Given the description of an element on the screen output the (x, y) to click on. 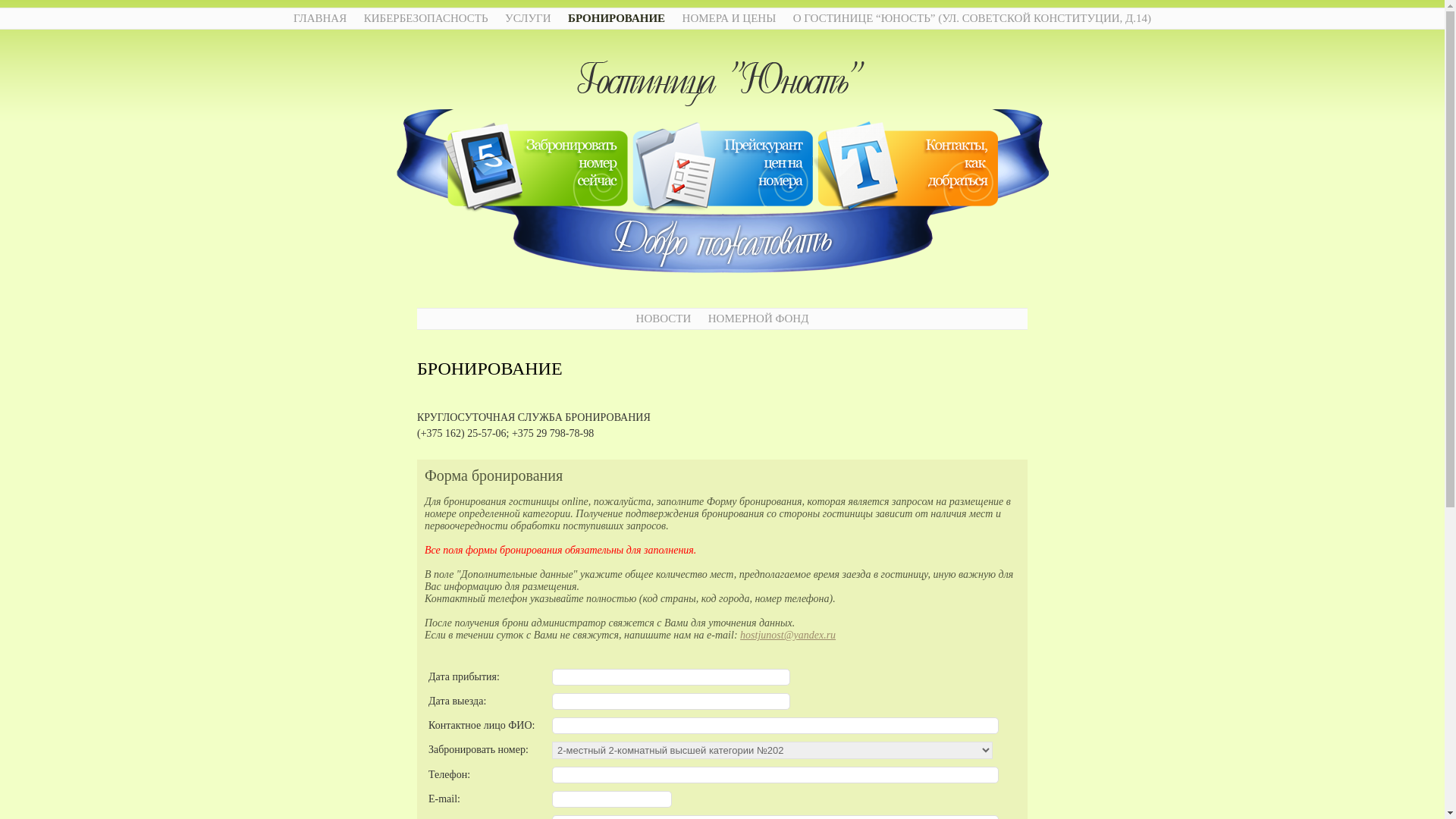
hostjunost@yandex.ru Element type: text (787, 634)
